Given the description of an element on the screen output the (x, y) to click on. 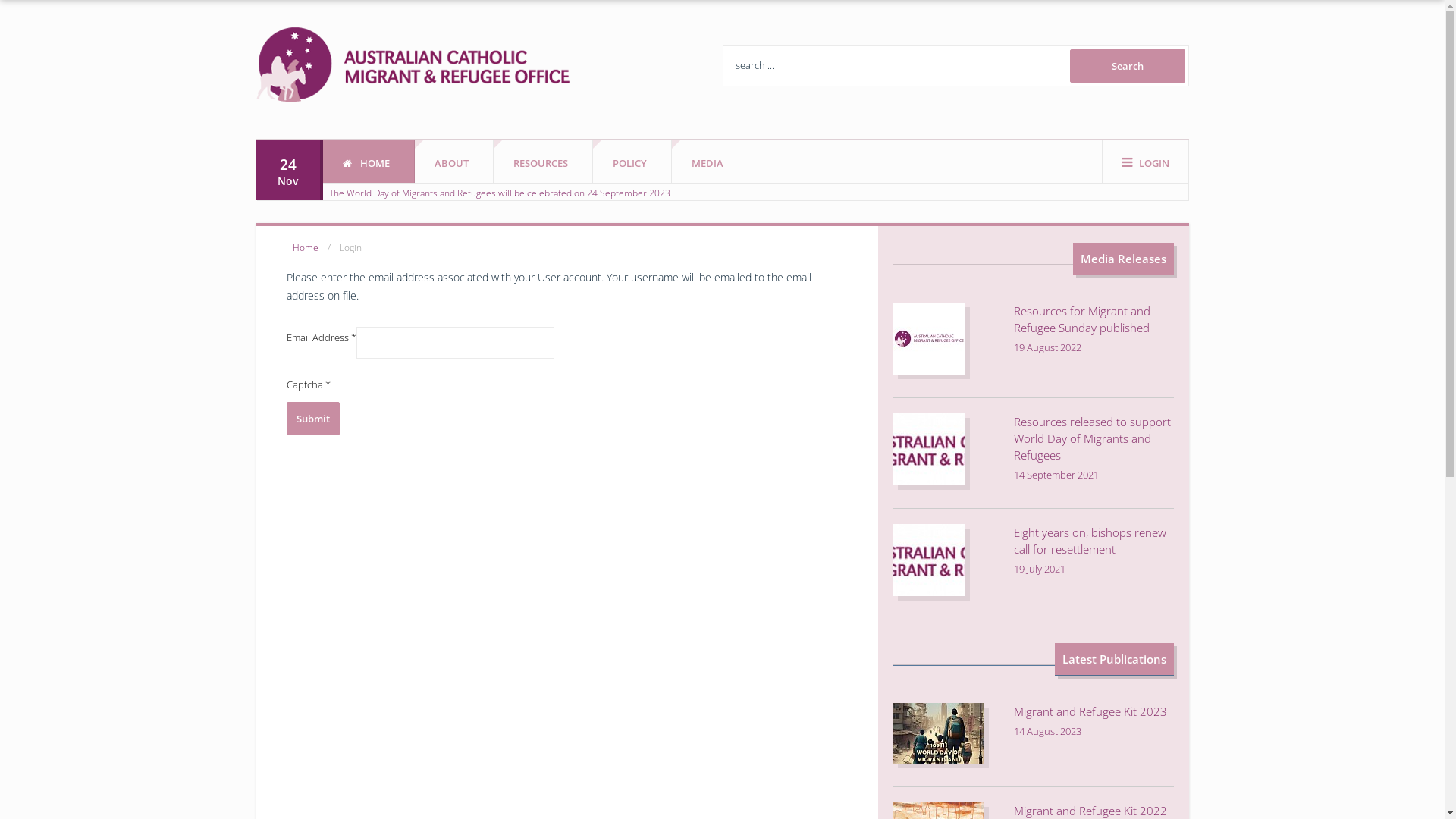
Submit Element type: text (312, 418)
POLICY Element type: text (632, 160)
Search Element type: text (1127, 65)
ABOUT Element type: text (453, 160)
Eight years on, bishops renew call for resettlement Element type: text (1089, 540)
Migrant and Refugee Kit 2023 Element type: text (1090, 710)
  LOGIN Element type: text (1144, 160)
HOME Element type: text (368, 160)
Resources for Migrant and Refugee Sunday published Element type: text (1081, 319)
Home Element type: text (305, 247)
Migrant and Refugee Kit 2022 Element type: text (1090, 810)
